Given the description of an element on the screen output the (x, y) to click on. 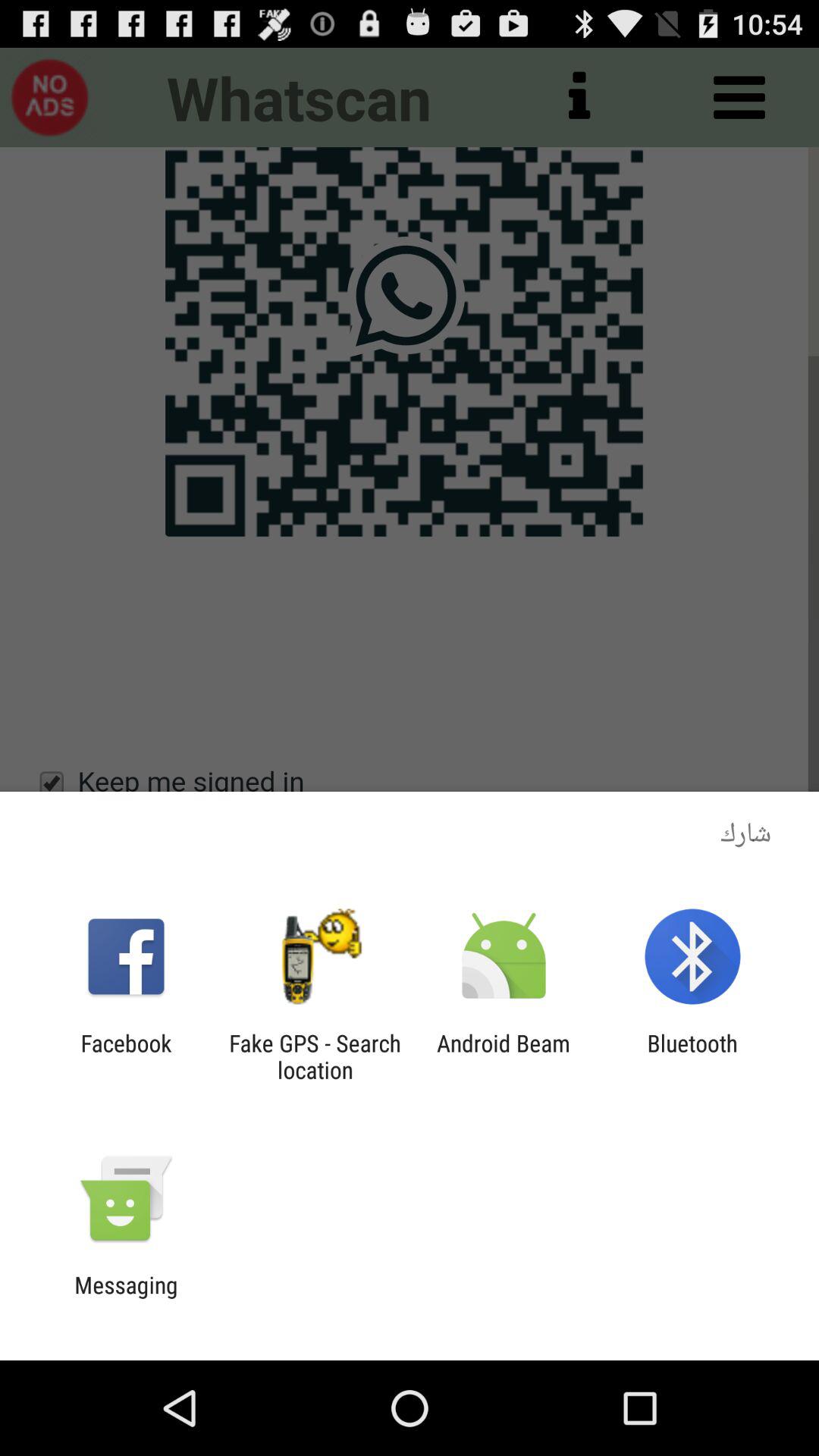
press the app next to android beam (692, 1056)
